Given the description of an element on the screen output the (x, y) to click on. 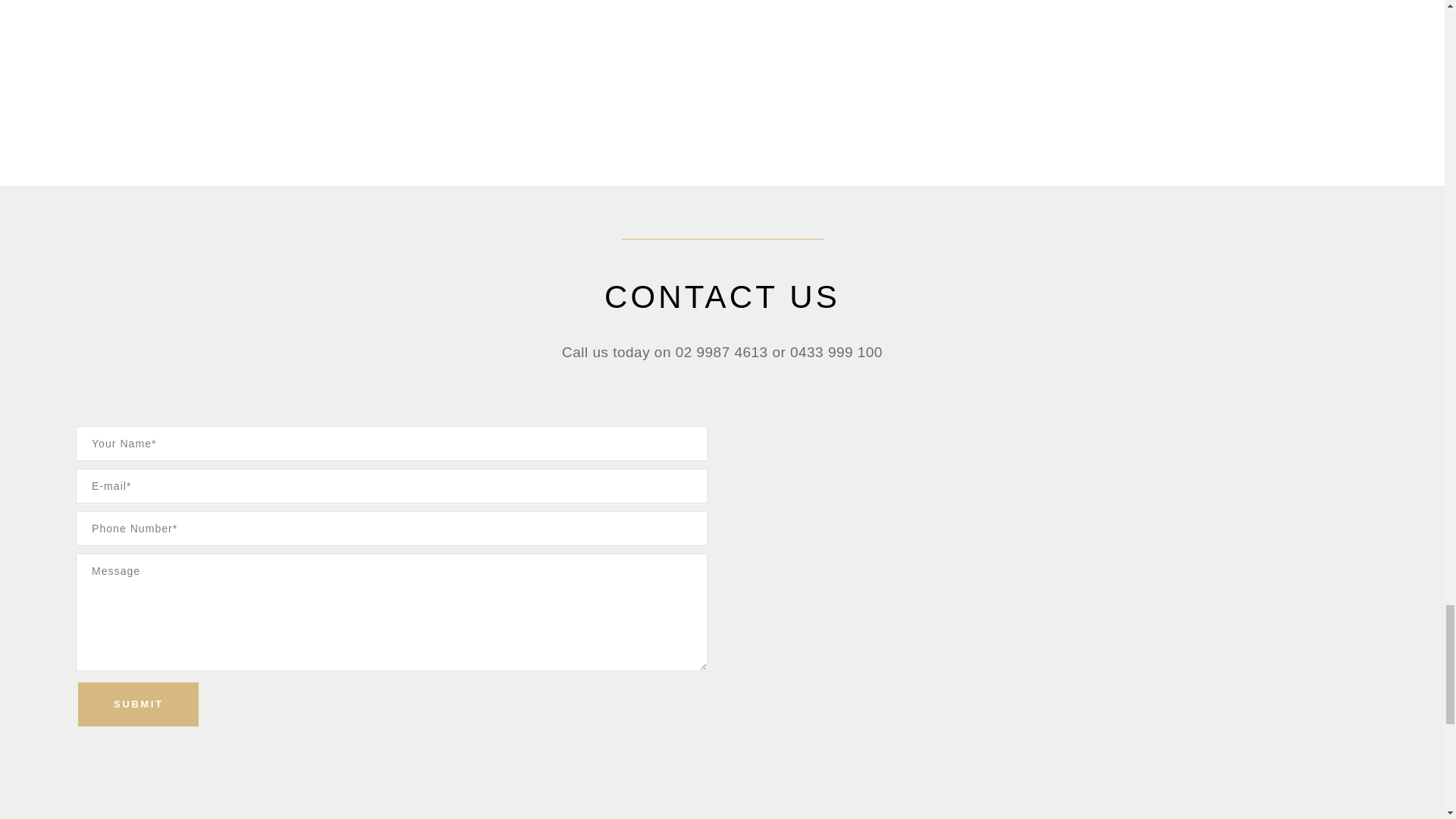
Submit (138, 704)
